Given the description of an element on the screen output the (x, y) to click on. 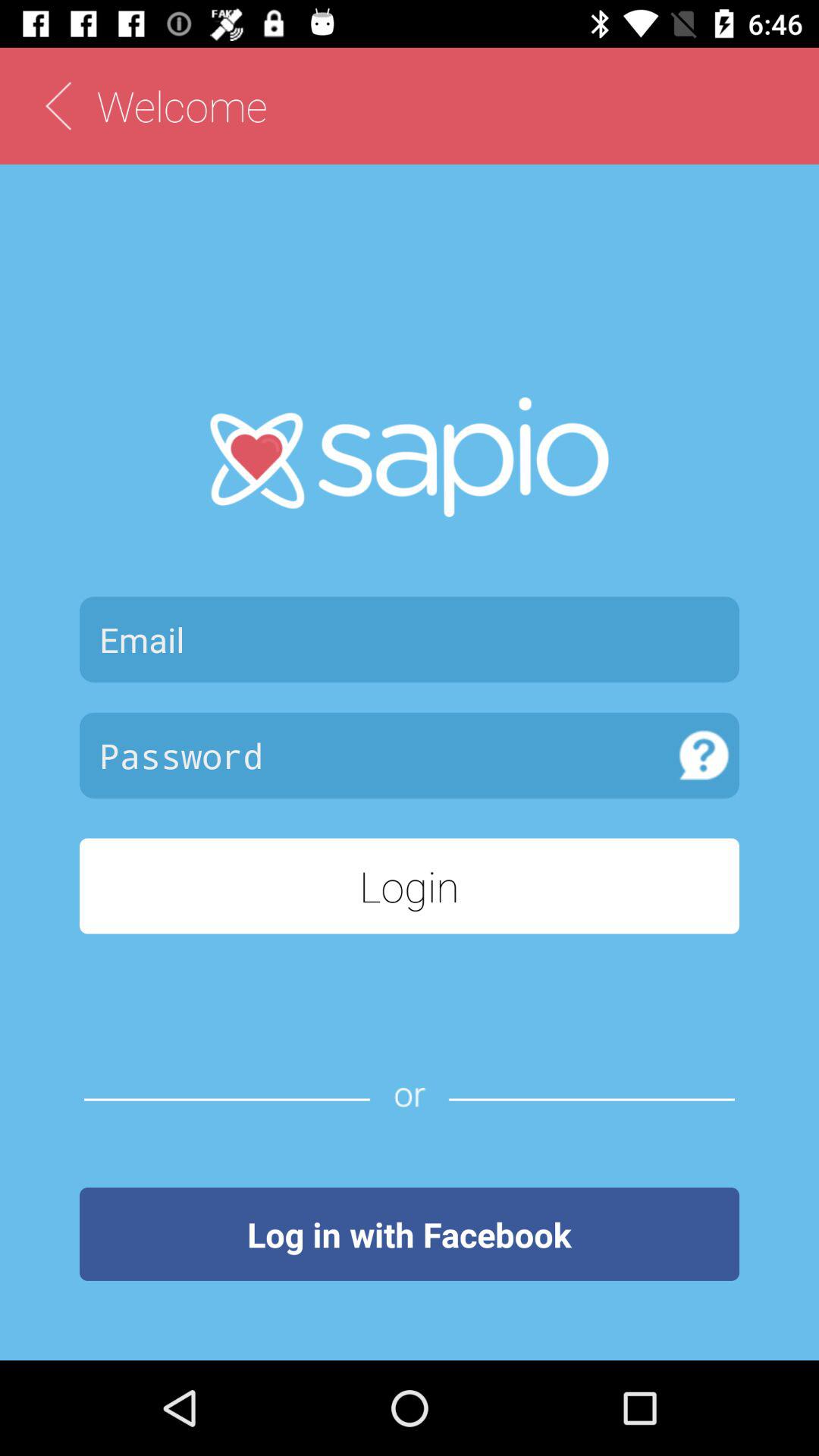
flip to log in with icon (409, 1233)
